Given the description of an element on the screen output the (x, y) to click on. 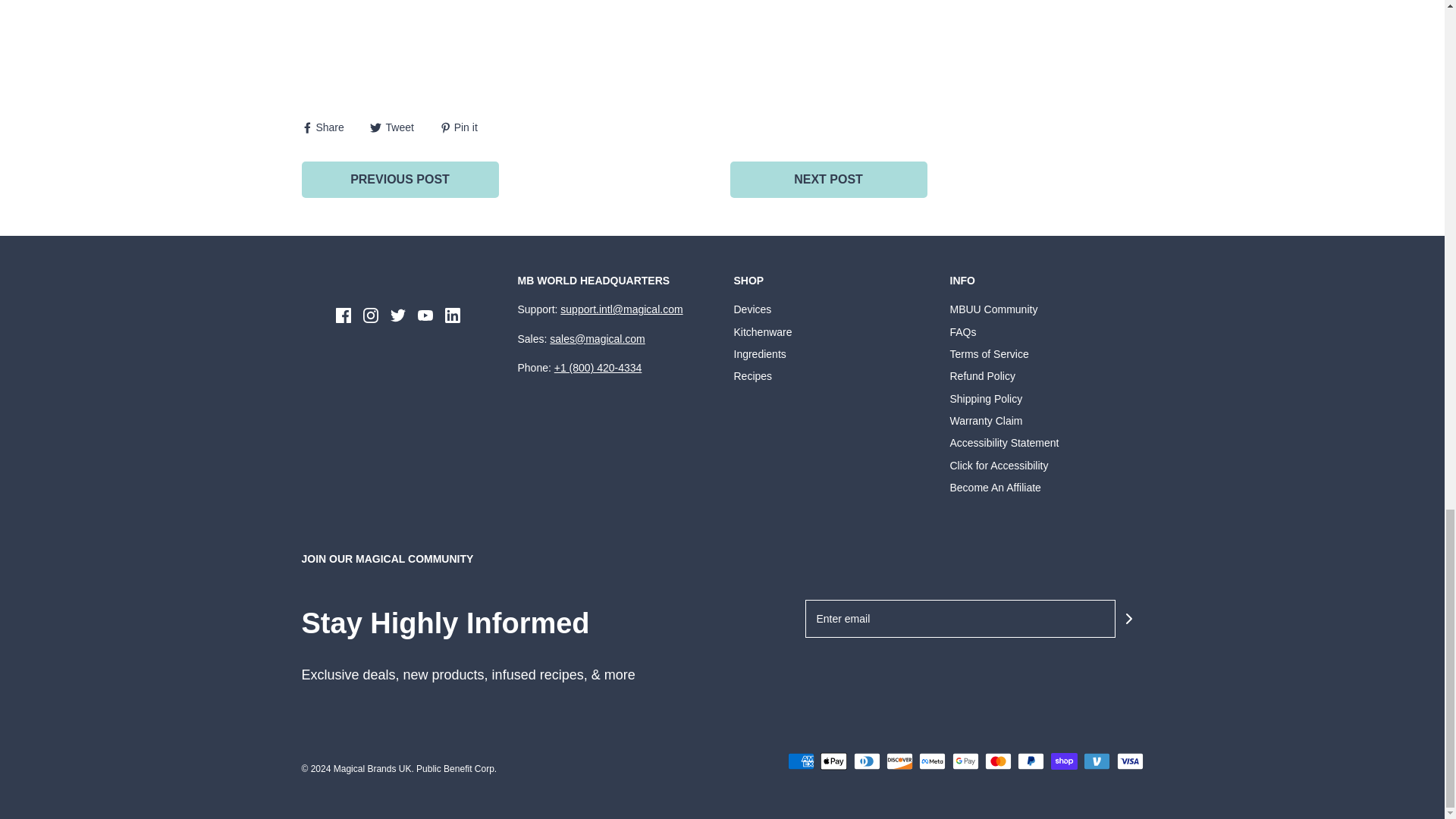
Email Support (621, 309)
Facebook icon (343, 314)
Sales Support (597, 338)
